Given the description of an element on the screen output the (x, y) to click on. 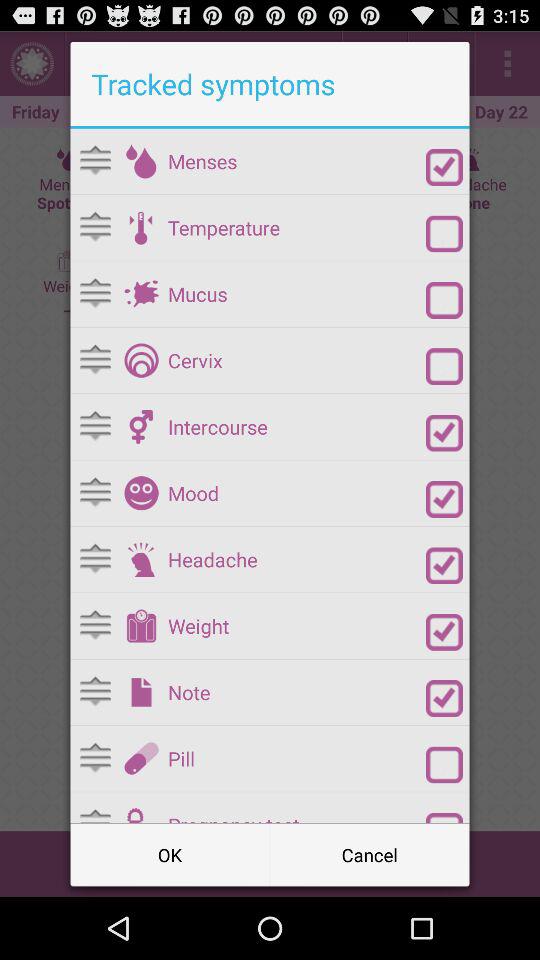
toggle weight to be tracked (444, 631)
